Given the description of an element on the screen output the (x, y) to click on. 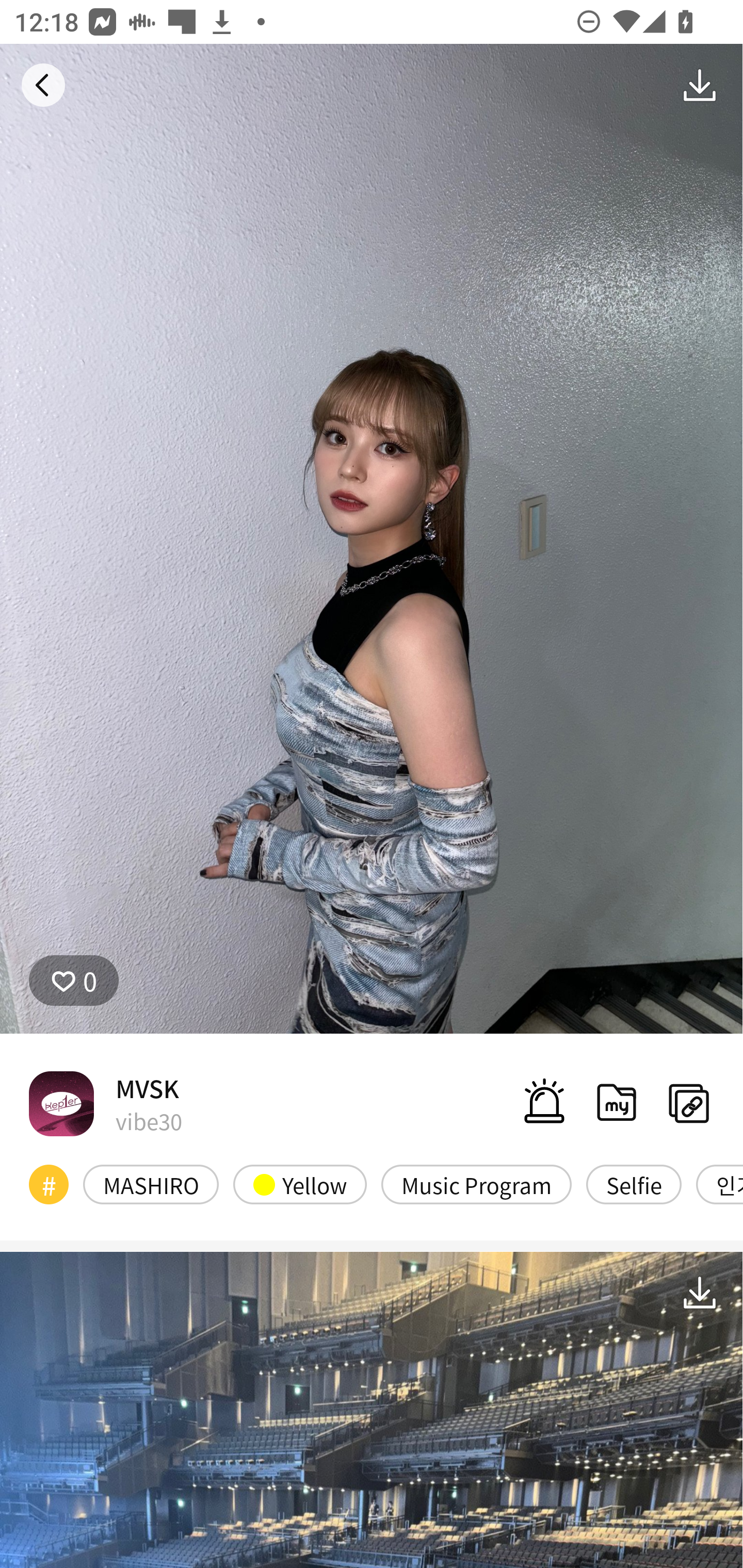
0 (73, 980)
MVSK vibe30 (105, 1102)
MASHIRO (150, 1184)
Yellow (300, 1184)
Music Program (476, 1184)
Selfie (633, 1184)
